Given the description of an element on the screen output the (x, y) to click on. 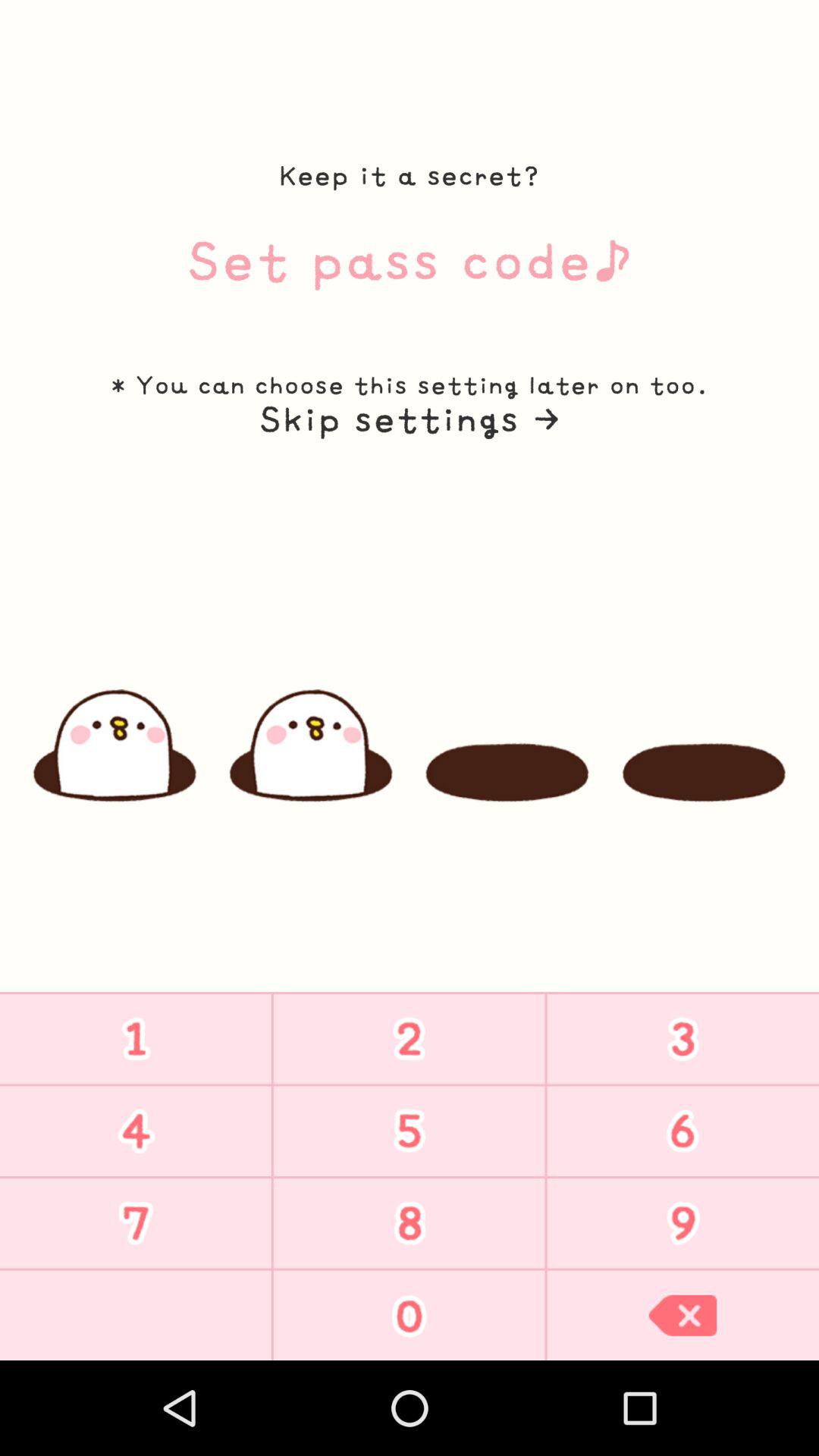
choose item below you can choose item (409, 419)
